Given the description of an element on the screen output the (x, y) to click on. 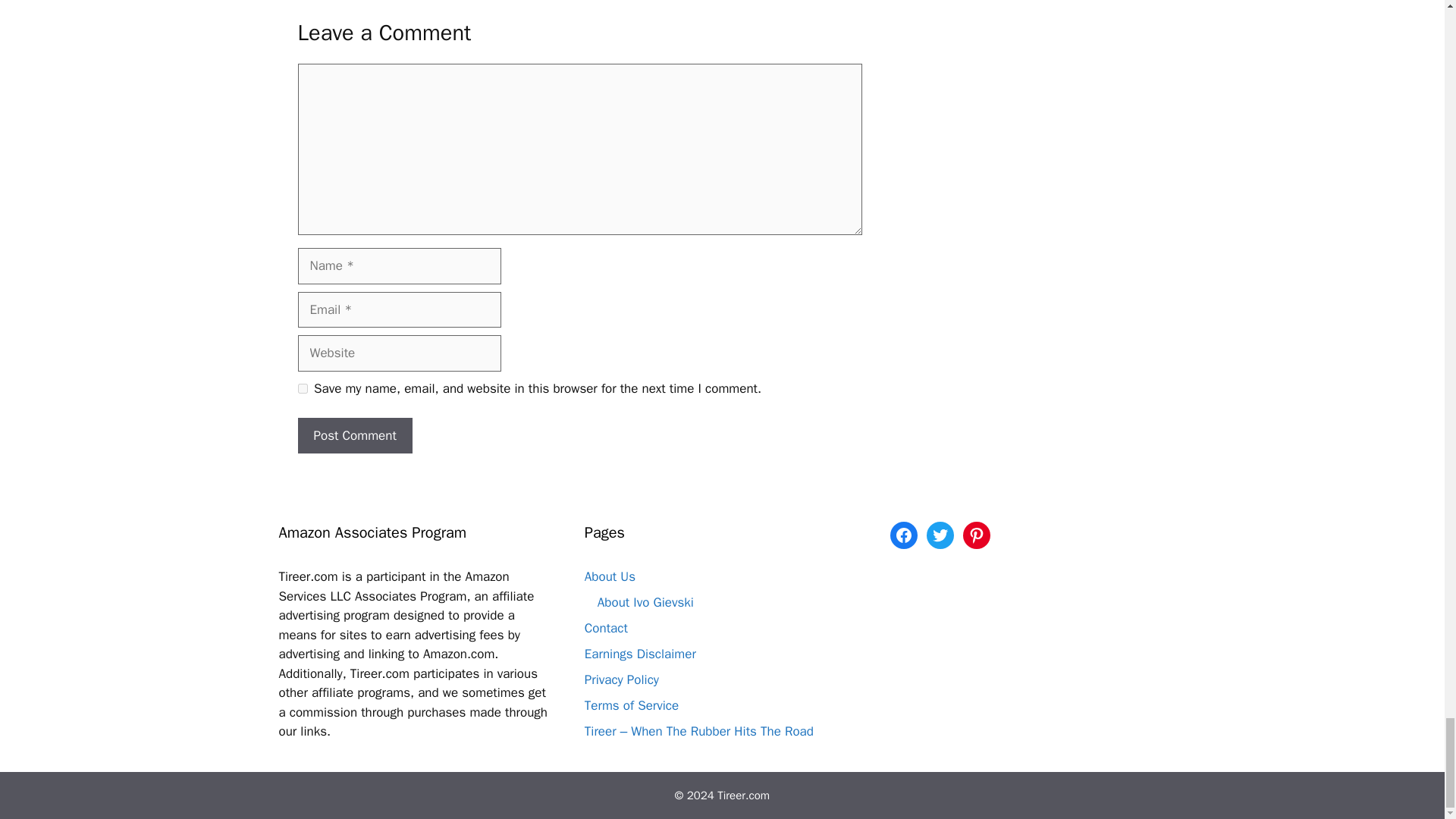
yes (302, 388)
Post Comment (354, 435)
